Given the description of an element on the screen output the (x, y) to click on. 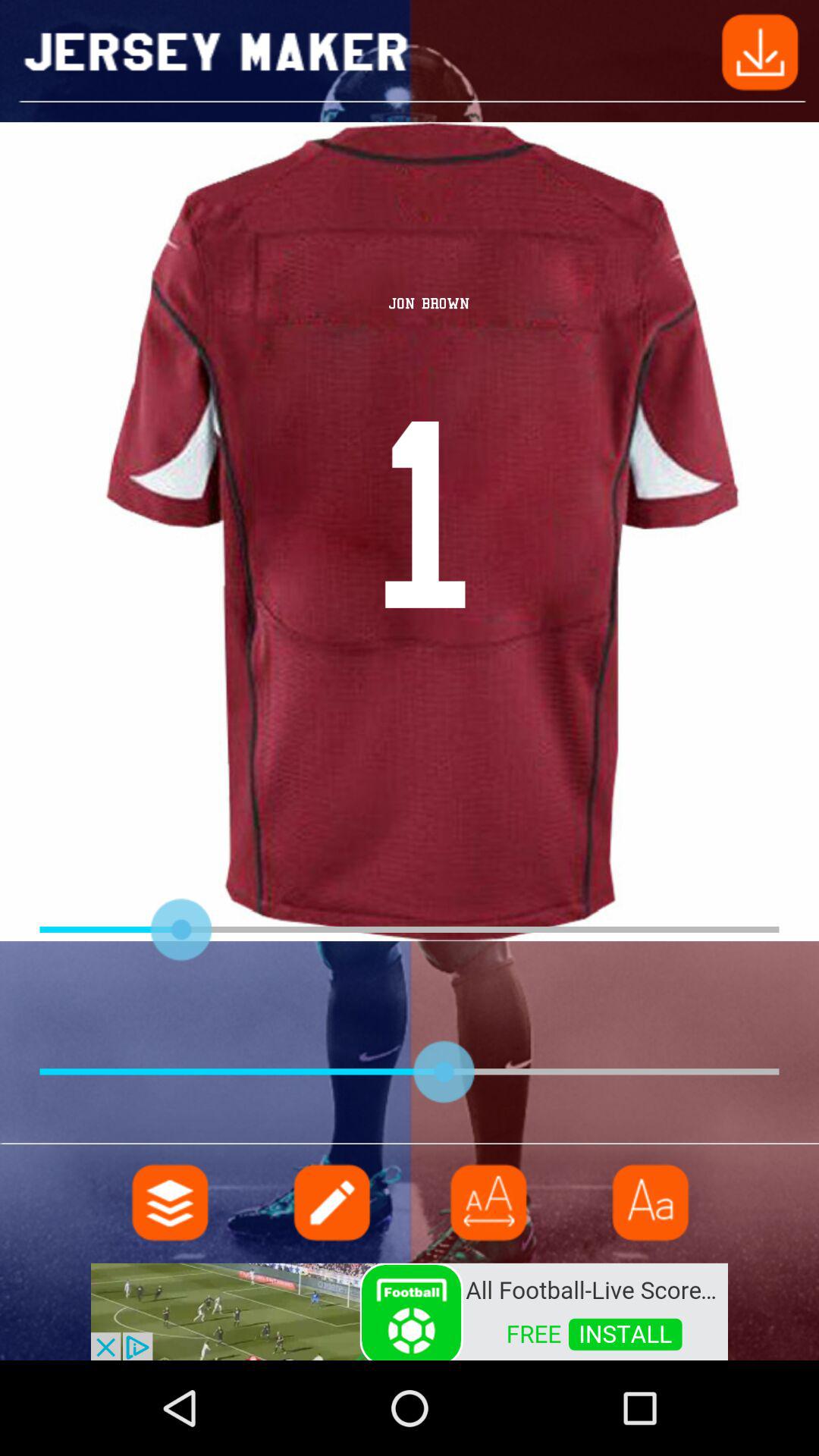
write option (329, 1202)
